Given the description of an element on the screen output the (x, y) to click on. 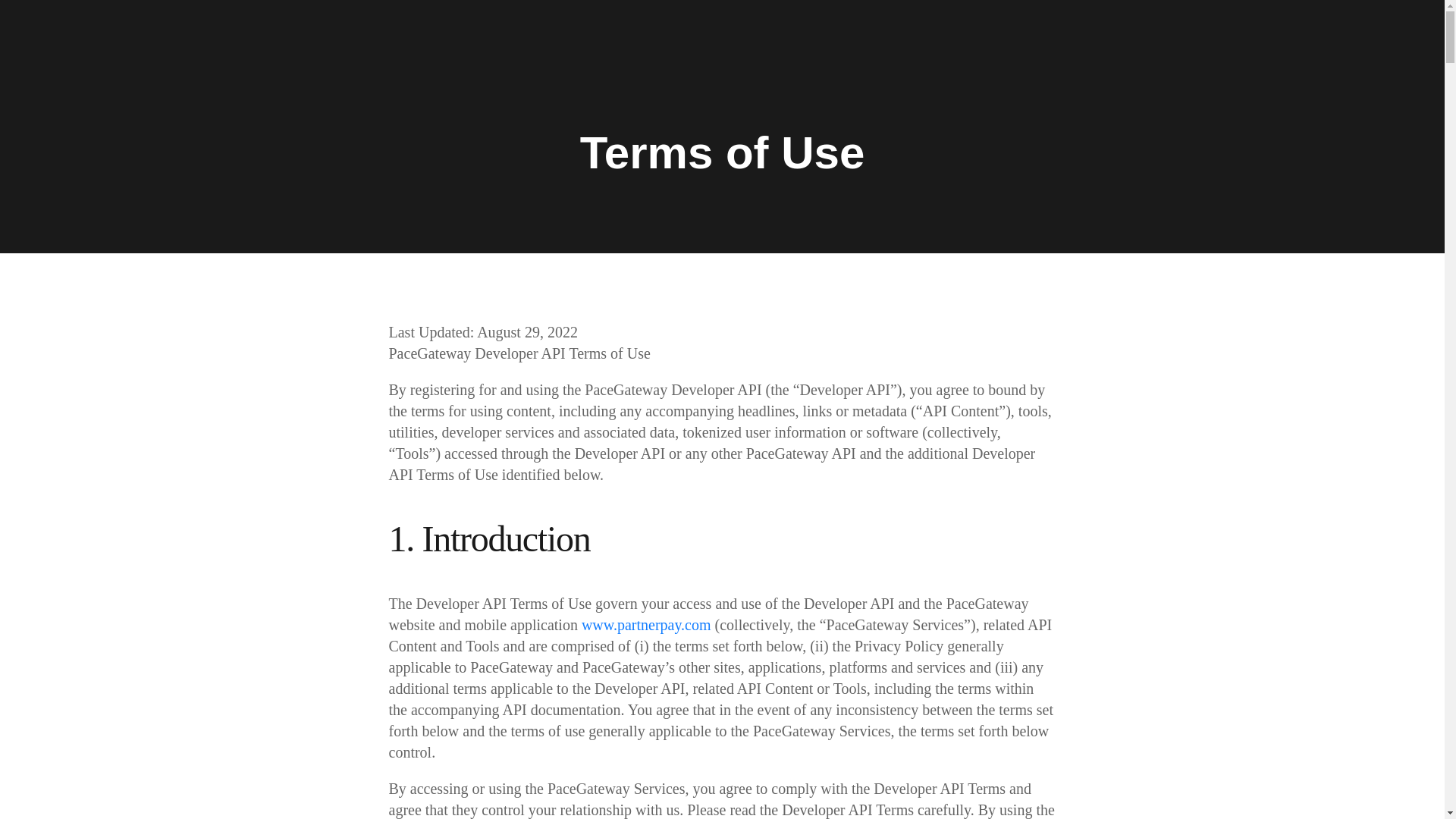
www.partnerpay.com (645, 624)
